Given the description of an element on the screen output the (x, y) to click on. 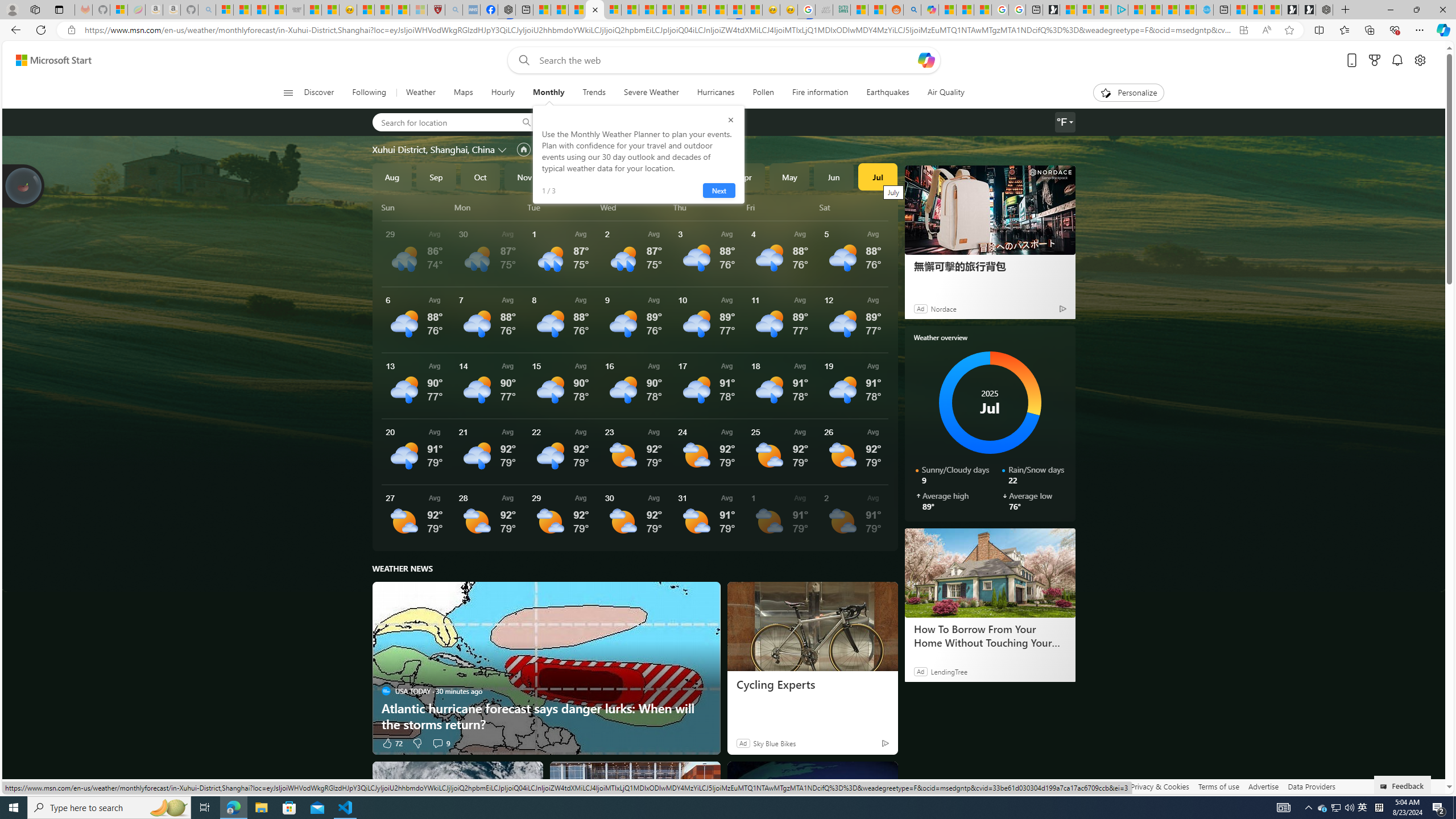
Tue (561, 207)
Terms of use (1218, 785)
Enter your search term (726, 59)
Join us in planting real trees to help our planet! (23, 184)
Open navigation menu (287, 92)
14 Common Myths Debunked By Scientific Facts (665, 9)
MSN (735, 9)
